Given the description of an element on the screen output the (x, y) to click on. 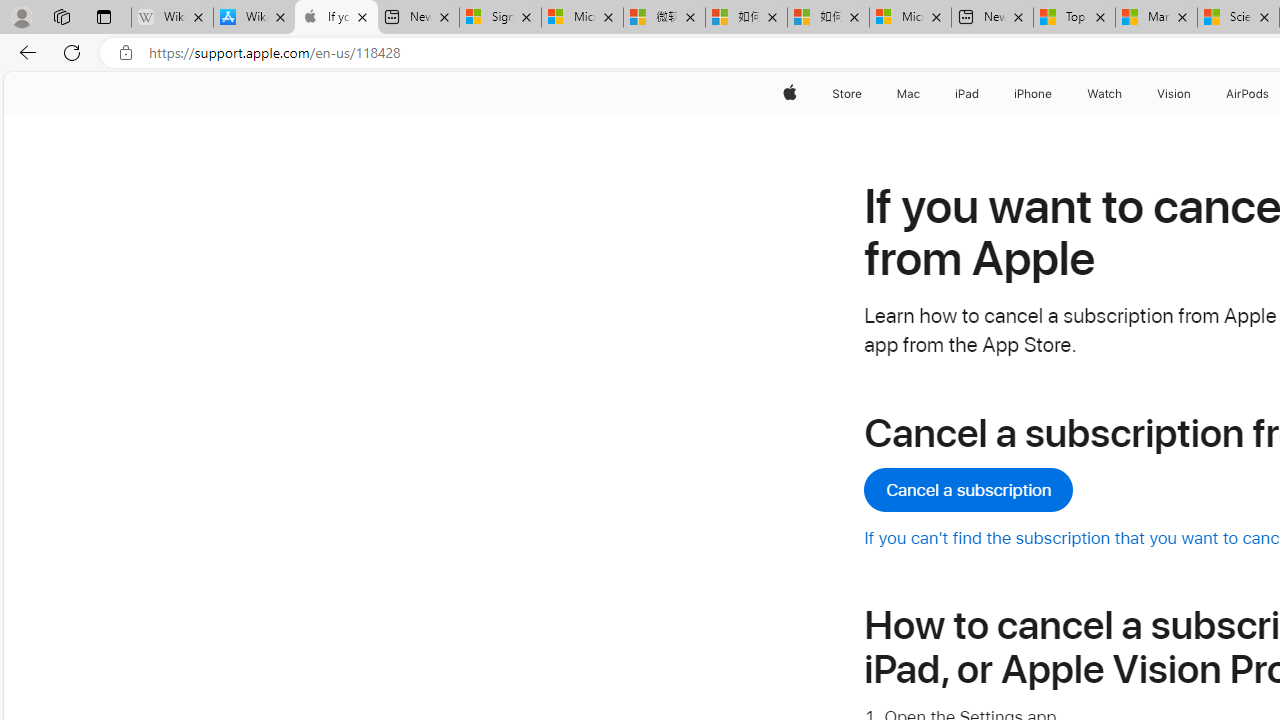
Microsoft Services Agreement (582, 17)
Wikipedia - Sleeping (171, 17)
Vision (1174, 93)
Personal Profile (21, 16)
iPad menu (982, 93)
iPad (965, 93)
Cancel a subscription (968, 490)
Class: globalnav-submenu-trigger-item (1195, 93)
Mac menu (922, 93)
iPhone (1033, 93)
Store menu (864, 93)
